Given the description of an element on the screen output the (x, y) to click on. 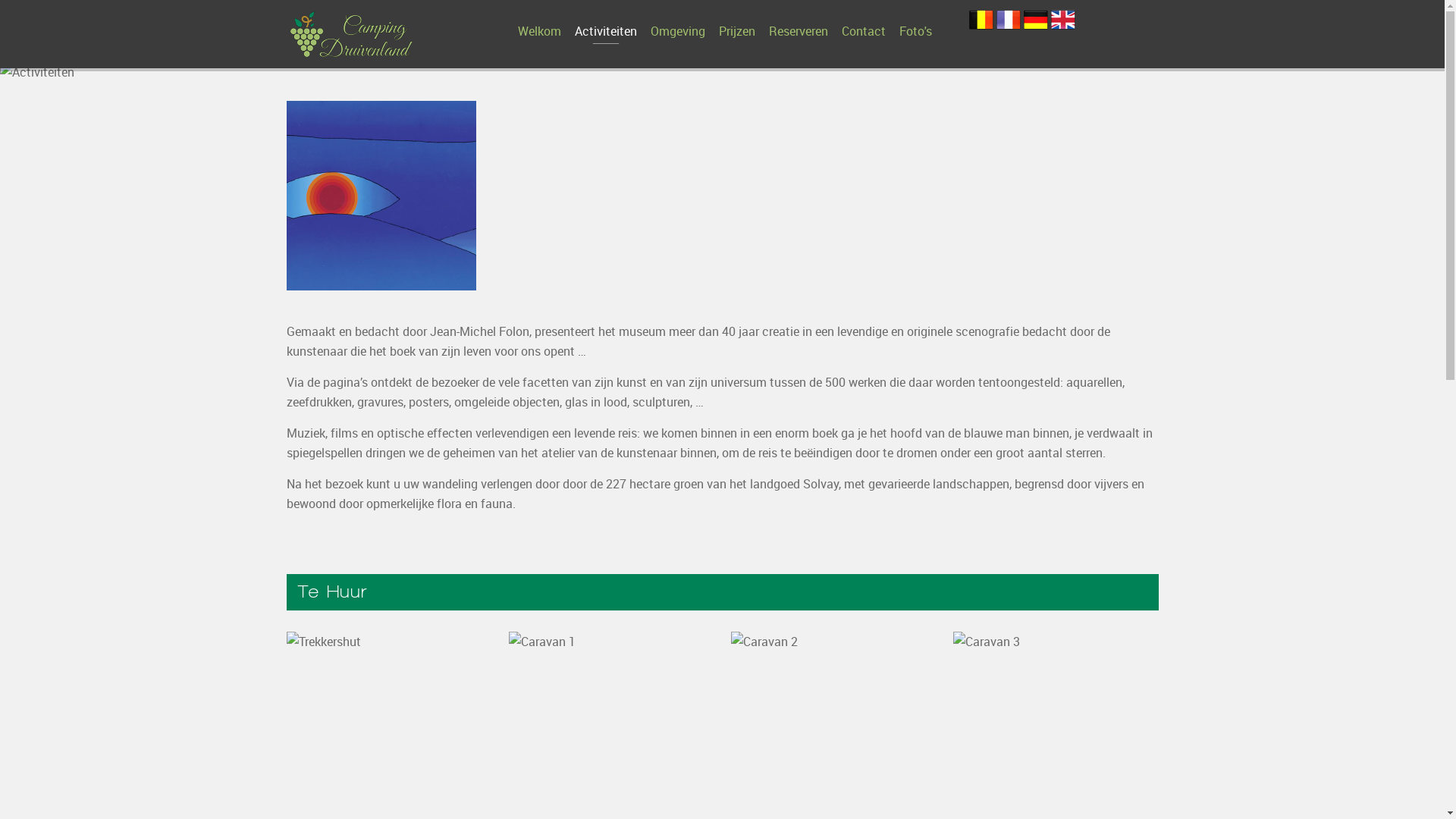
Welkom Element type: text (538, 30)
Deutsch Element type: hover (1035, 19)
Contact Element type: text (863, 30)
Reserveren Element type: text (798, 30)
Nederlands Element type: hover (981, 19)
Activiteiten Element type: text (605, 30)
English Element type: hover (1063, 19)
Prijzen Element type: text (736, 30)
Omgeving Element type: text (677, 30)
Foto's Element type: text (915, 30)
